Given the description of an element on the screen output the (x, y) to click on. 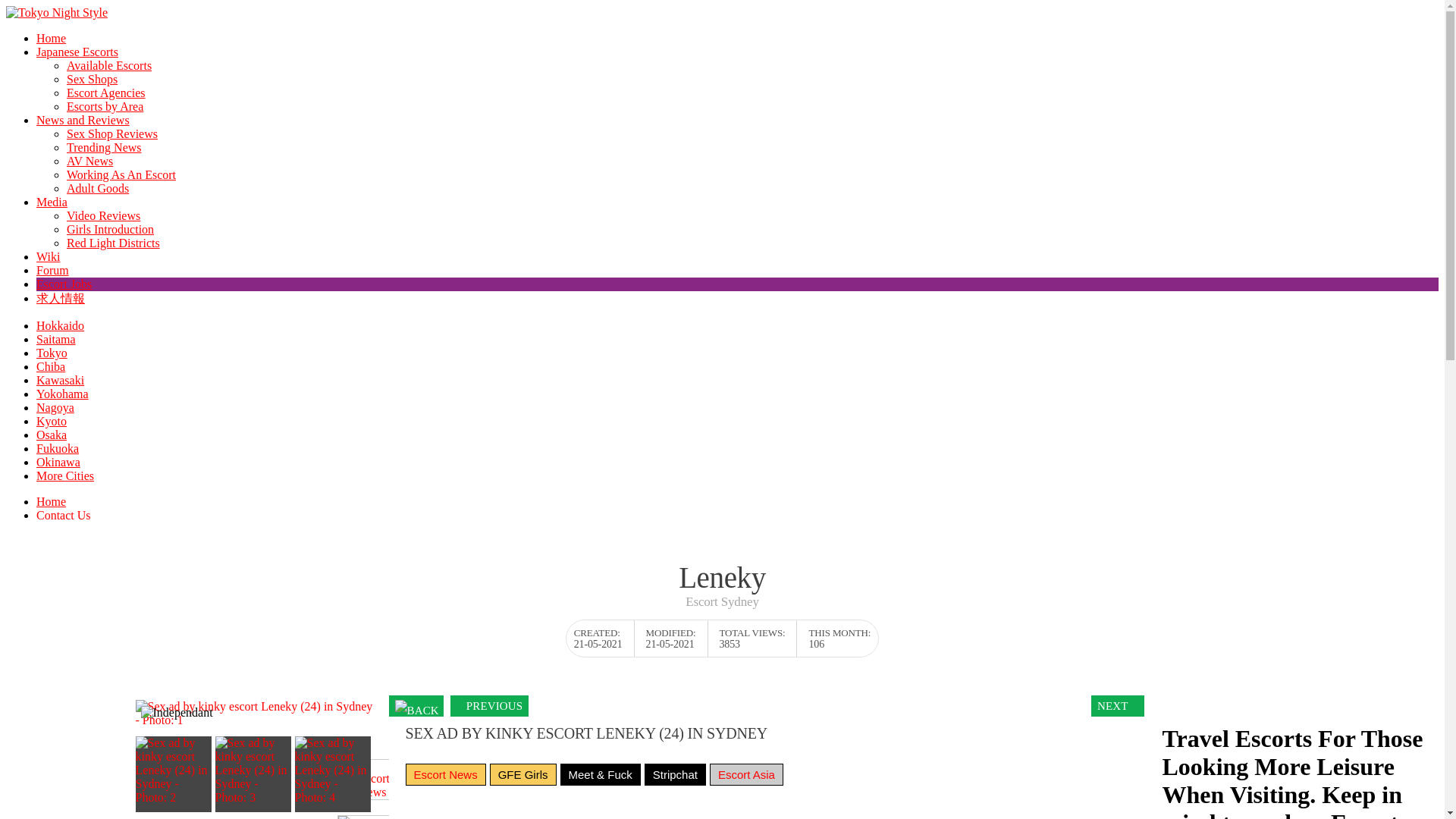
Tokyo (51, 352)
Sex Shop Reviews (111, 133)
Chiba (50, 366)
Escort Jobs (63, 283)
Japanese Escorts (76, 51)
Topescort.com (373, 815)
Kawasaki (60, 379)
Fukuoka (57, 448)
Available Escorts (108, 65)
Contact Us (63, 514)
Escort Agencies (105, 92)
Escorts by Area (104, 106)
Nagoya (55, 407)
Video Reviews (102, 215)
Yokohama (62, 393)
